Given the description of an element on the screen output the (x, y) to click on. 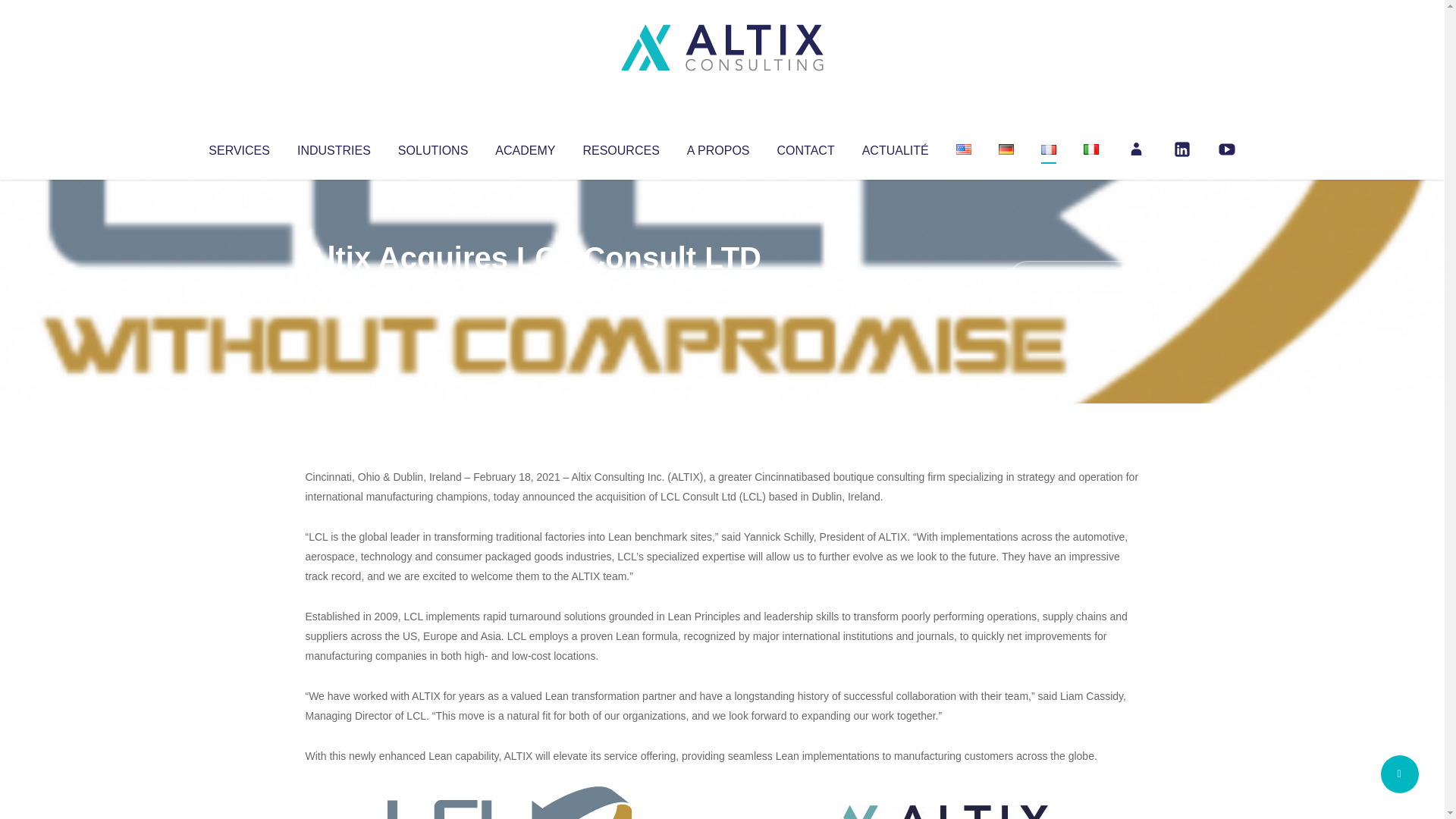
Uncategorized (530, 287)
INDUSTRIES (334, 146)
No Comments (1073, 278)
A PROPOS (718, 146)
Articles par Altix (333, 287)
ACADEMY (524, 146)
RESOURCES (620, 146)
SERVICES (238, 146)
SOLUTIONS (432, 146)
Altix (333, 287)
